Given the description of an element on the screen output the (x, y) to click on. 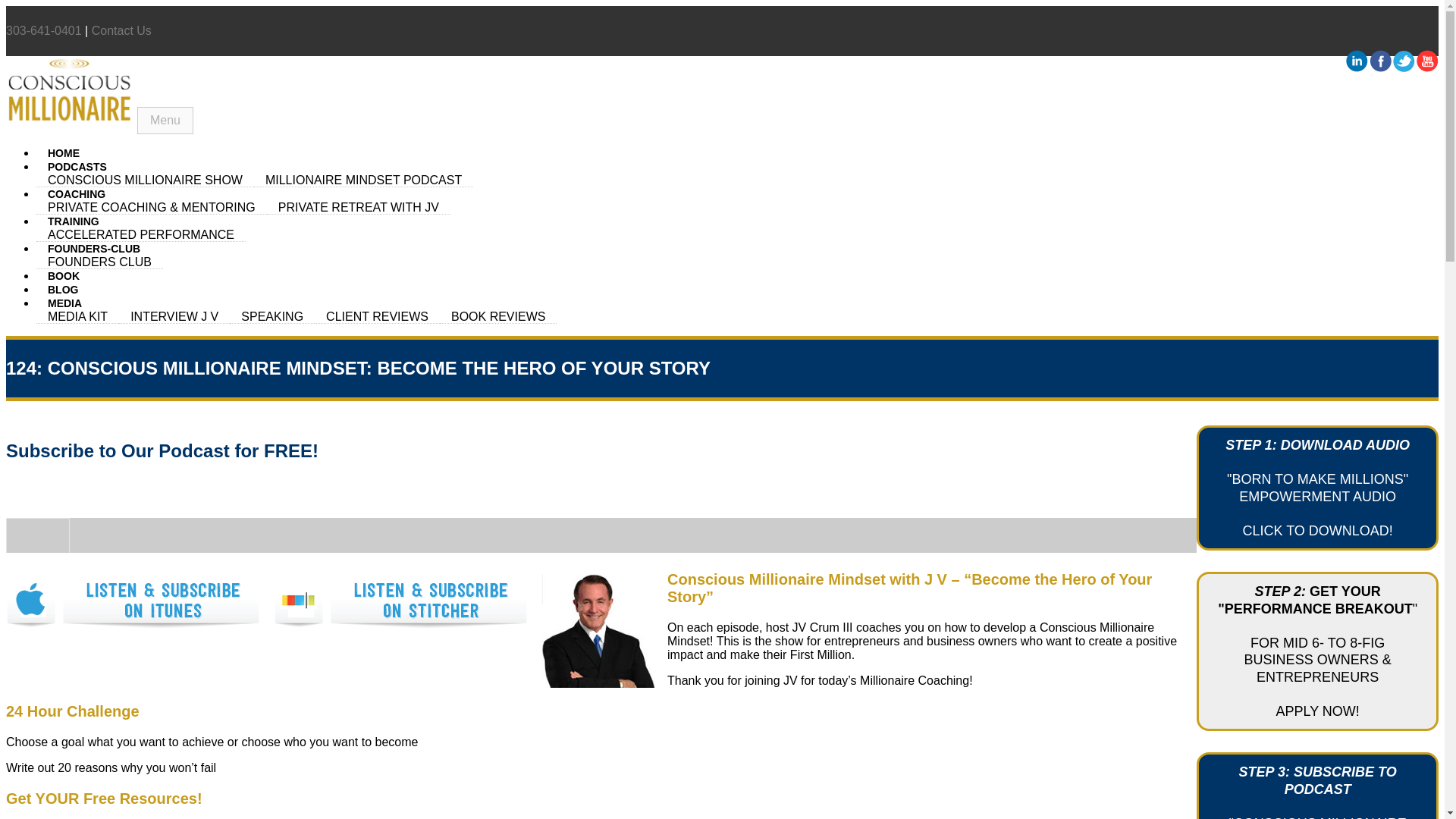
INTERVIEW J V (174, 316)
MILLIONAIRE MINDSET PODCAST (363, 180)
TRAINING (73, 221)
Subscribe to Our Podcast for FREE! (161, 450)
MEDIA KIT (77, 316)
FOUNDERS CLUB (99, 262)
Menu (164, 120)
303-641-0401 (43, 30)
CLIENT REVIEWS (376, 316)
COACHING (76, 194)
PRIVATE RETREAT WITH JV (357, 207)
PODCASTS (76, 166)
FOUNDERS-CLUB (93, 248)
BOOK REVIEWS (497, 316)
ACCELERATED PERFORMANCE (141, 234)
